Given the description of an element on the screen output the (x, y) to click on. 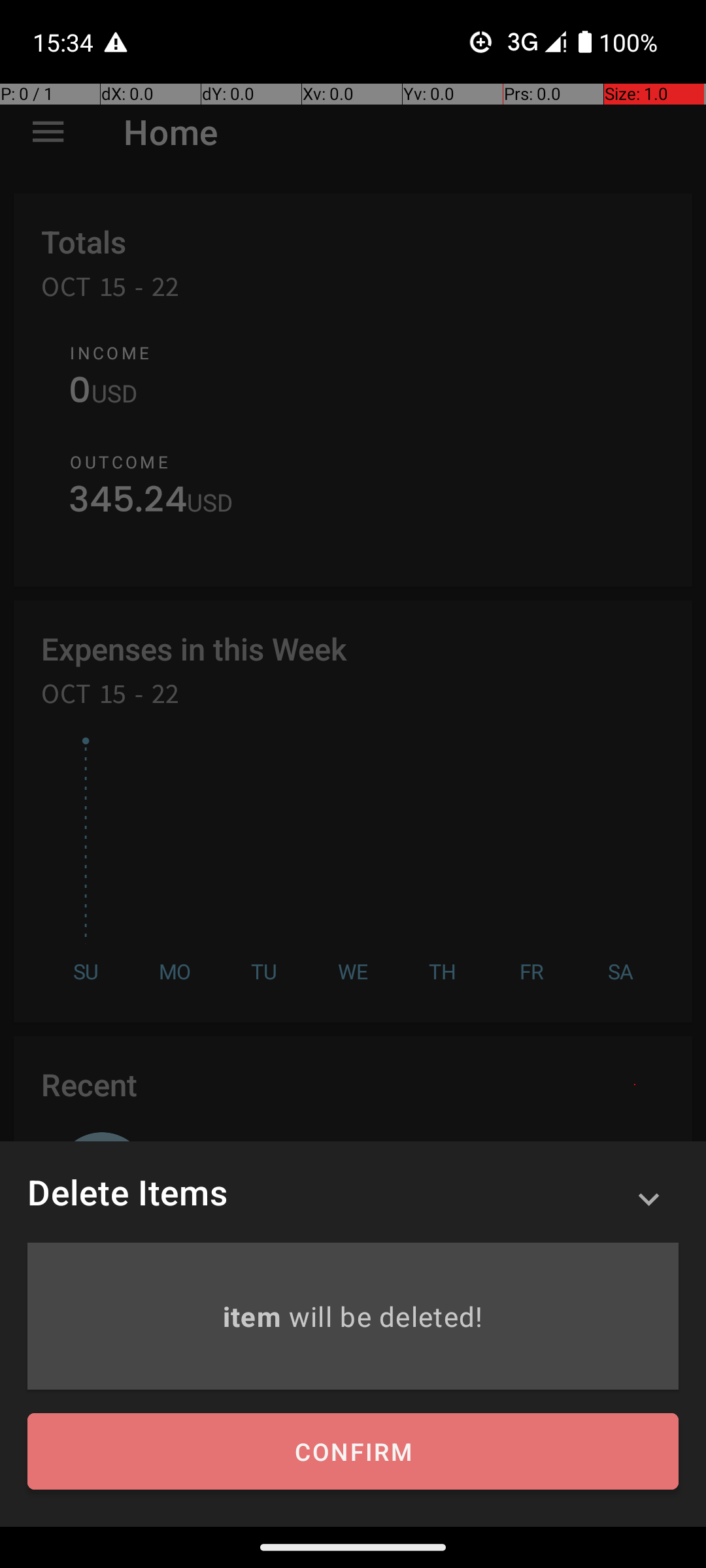
Delete Items Element type: android.widget.TextView (127, 1191)
item  Element type: android.widget.TextView (255, 1315)
will be deleted! Element type: android.widget.TextView (385, 1315)
CONFIRM Element type: android.widget.Button (352, 1451)
